Given the description of an element on the screen output the (x, y) to click on. 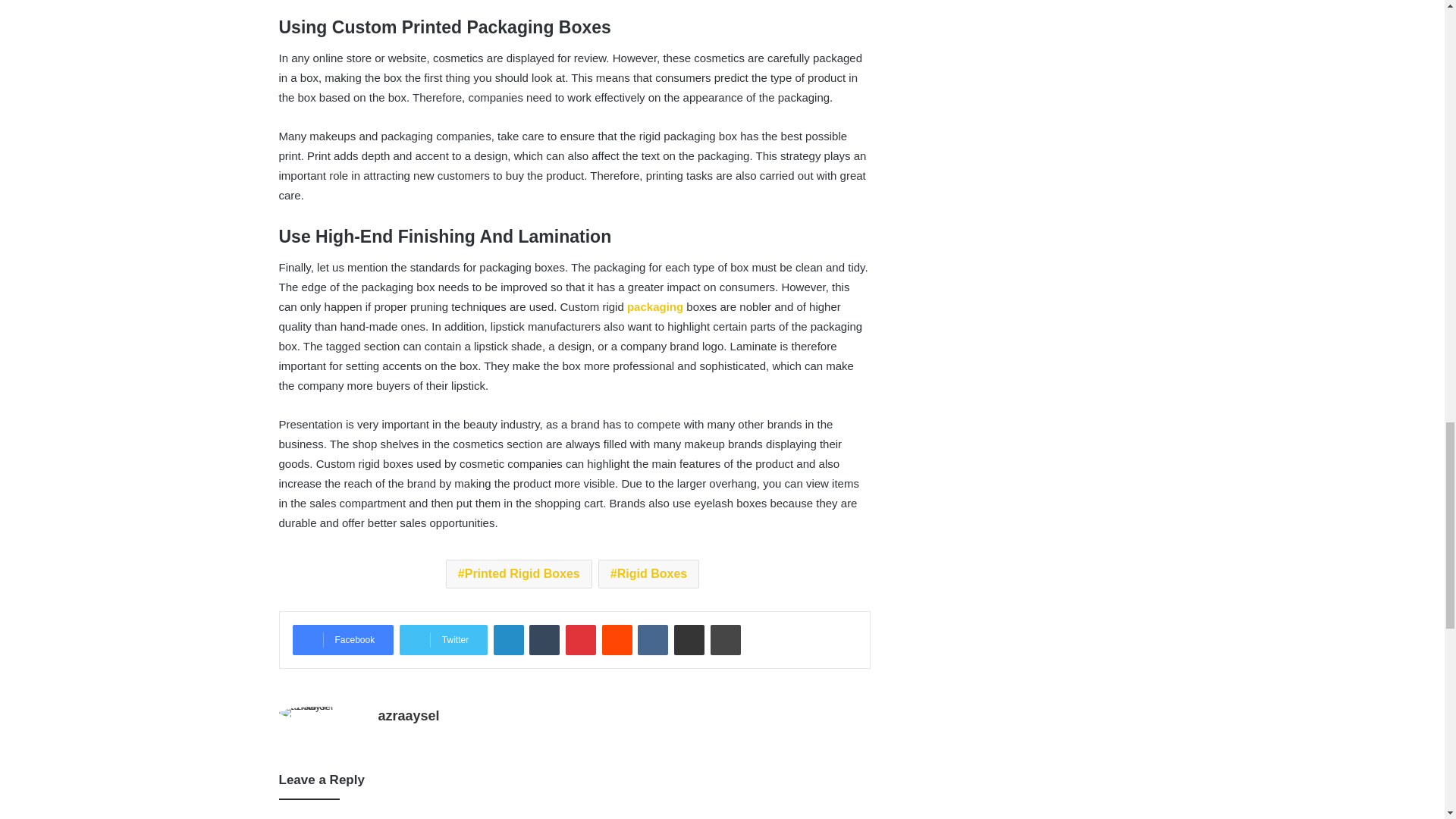
Twitter (442, 639)
packaging (654, 306)
Tumblr (544, 639)
Share via Email (689, 639)
Printed Rigid Boxes (518, 573)
Pinterest (580, 639)
LinkedIn (508, 639)
Reddit (616, 639)
LinkedIn (508, 639)
Facebook (343, 639)
